Given the description of an element on the screen output the (x, y) to click on. 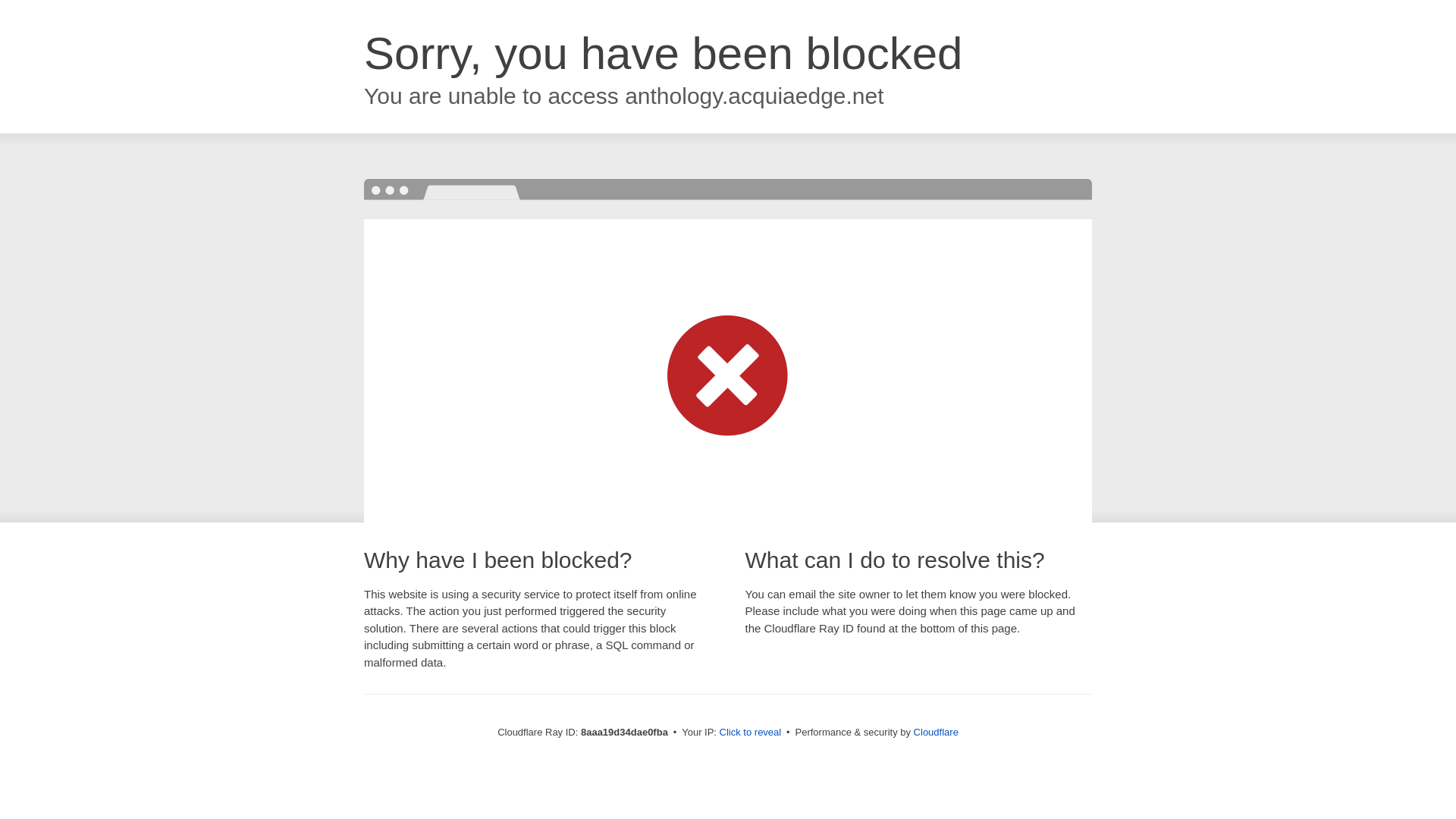
Cloudflare (936, 731)
Click to reveal (750, 732)
